Given the description of an element on the screen output the (x, y) to click on. 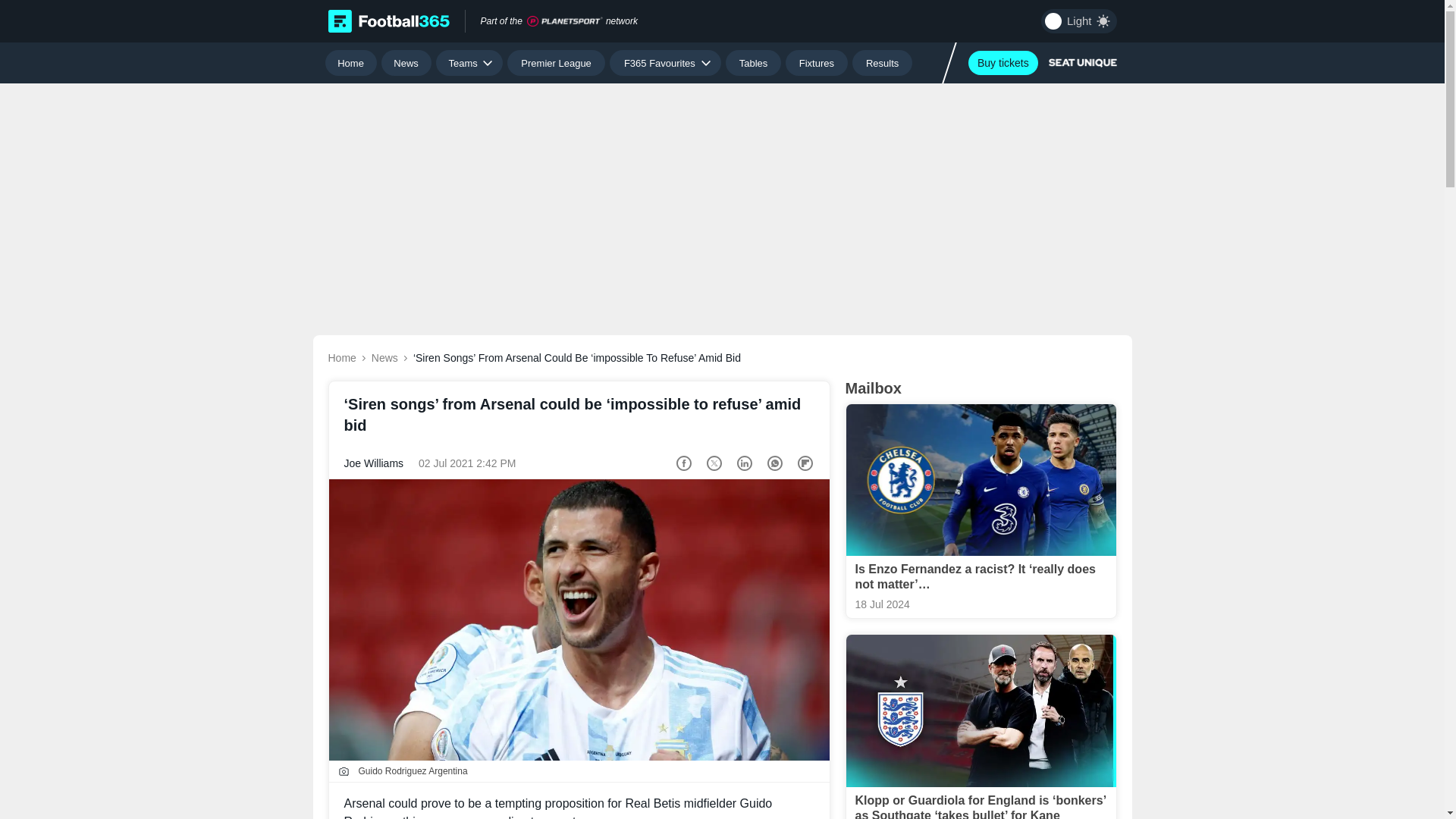
Premier League (555, 62)
Home (349, 62)
Teams (468, 62)
Fixtures (817, 62)
Tables (752, 62)
News (405, 62)
Results (881, 62)
F365 Favourites (665, 62)
